Given the description of an element on the screen output the (x, y) to click on. 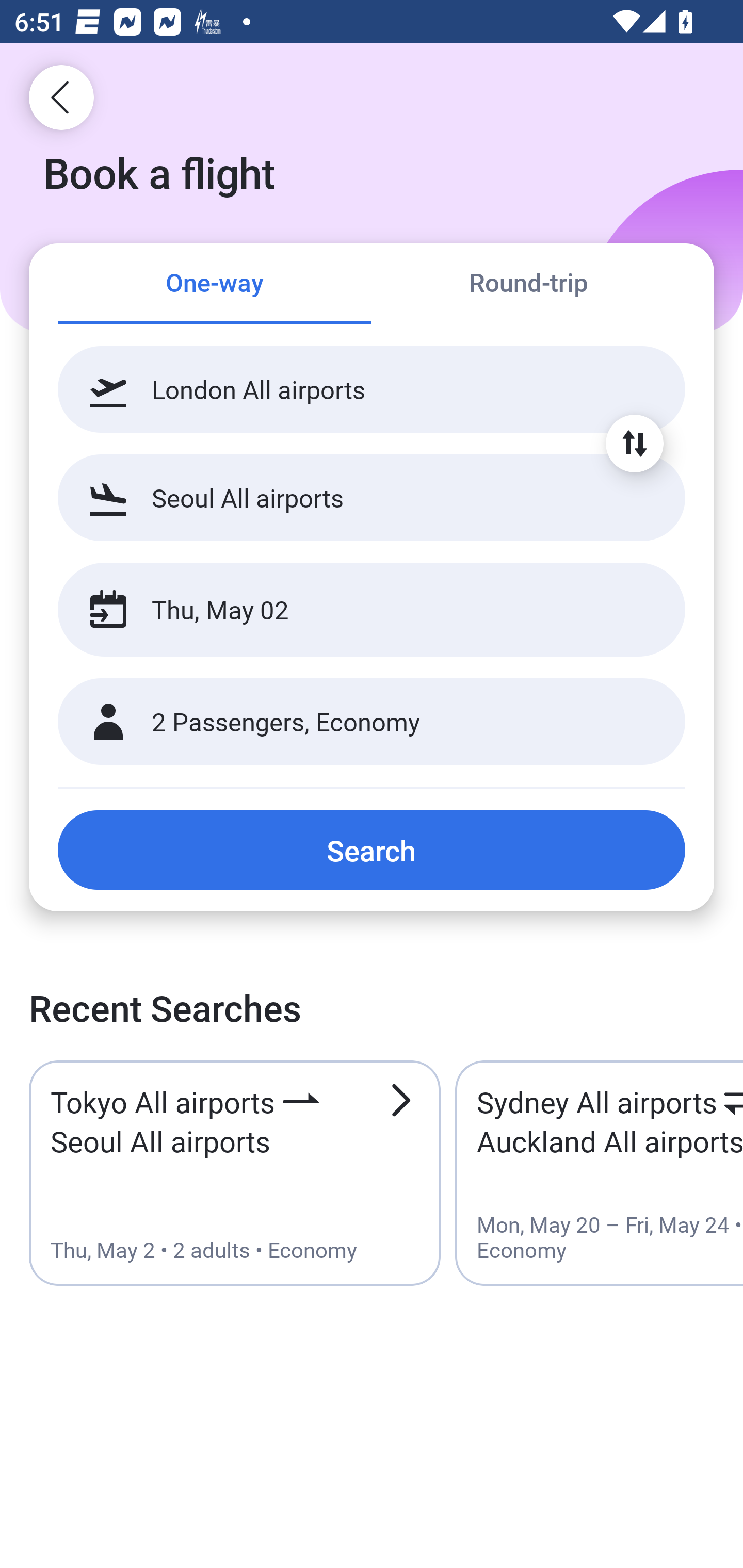
Round-trip (528, 284)
London All airports (371, 389)
Seoul All airports (371, 497)
Thu, May 02 (349, 609)
2 Passengers, Economy (371, 721)
Search (371, 849)
